Given the description of an element on the screen output the (x, y) to click on. 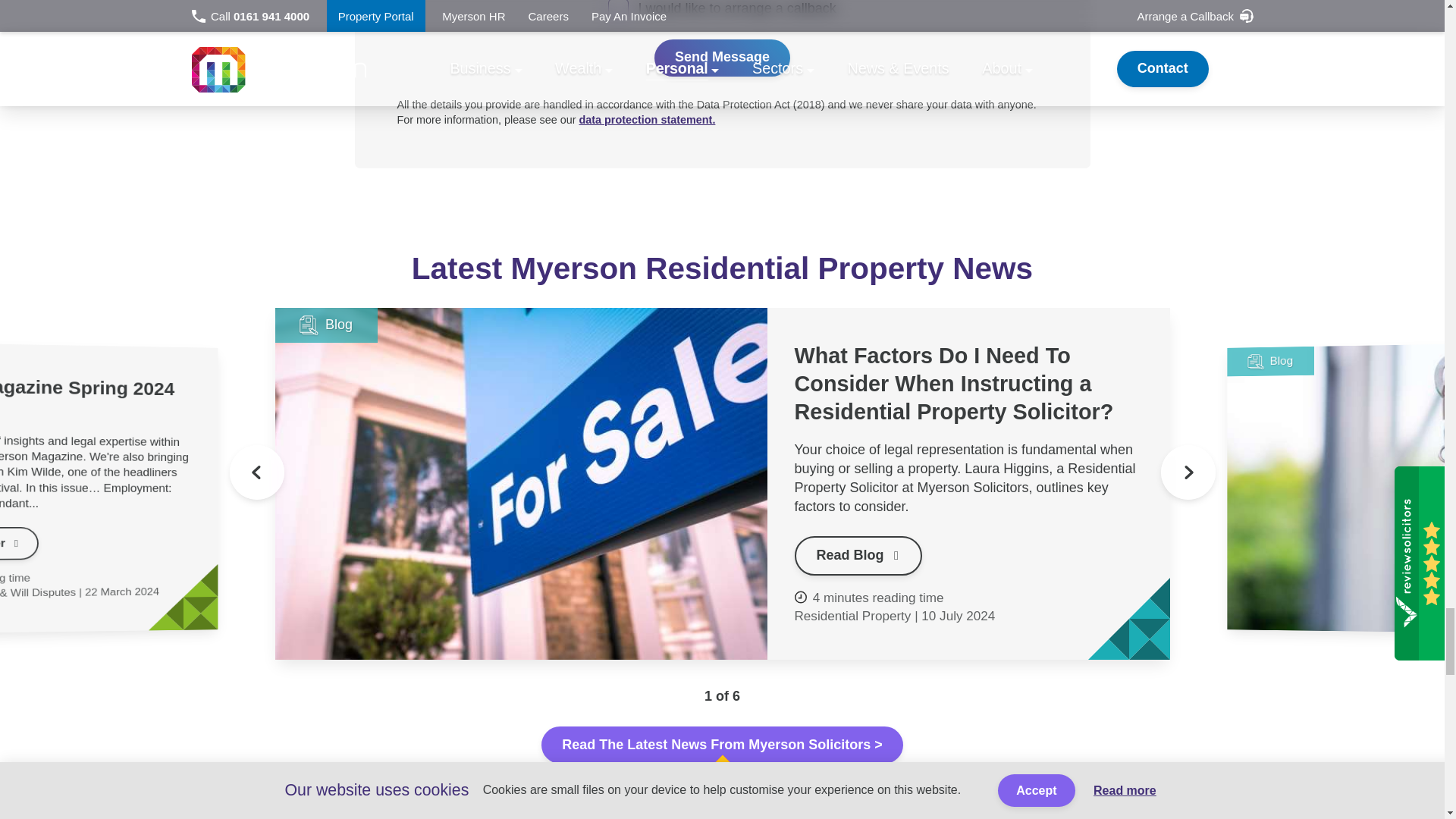
1 (618, 9)
